Given the description of an element on the screen output the (x, y) to click on. 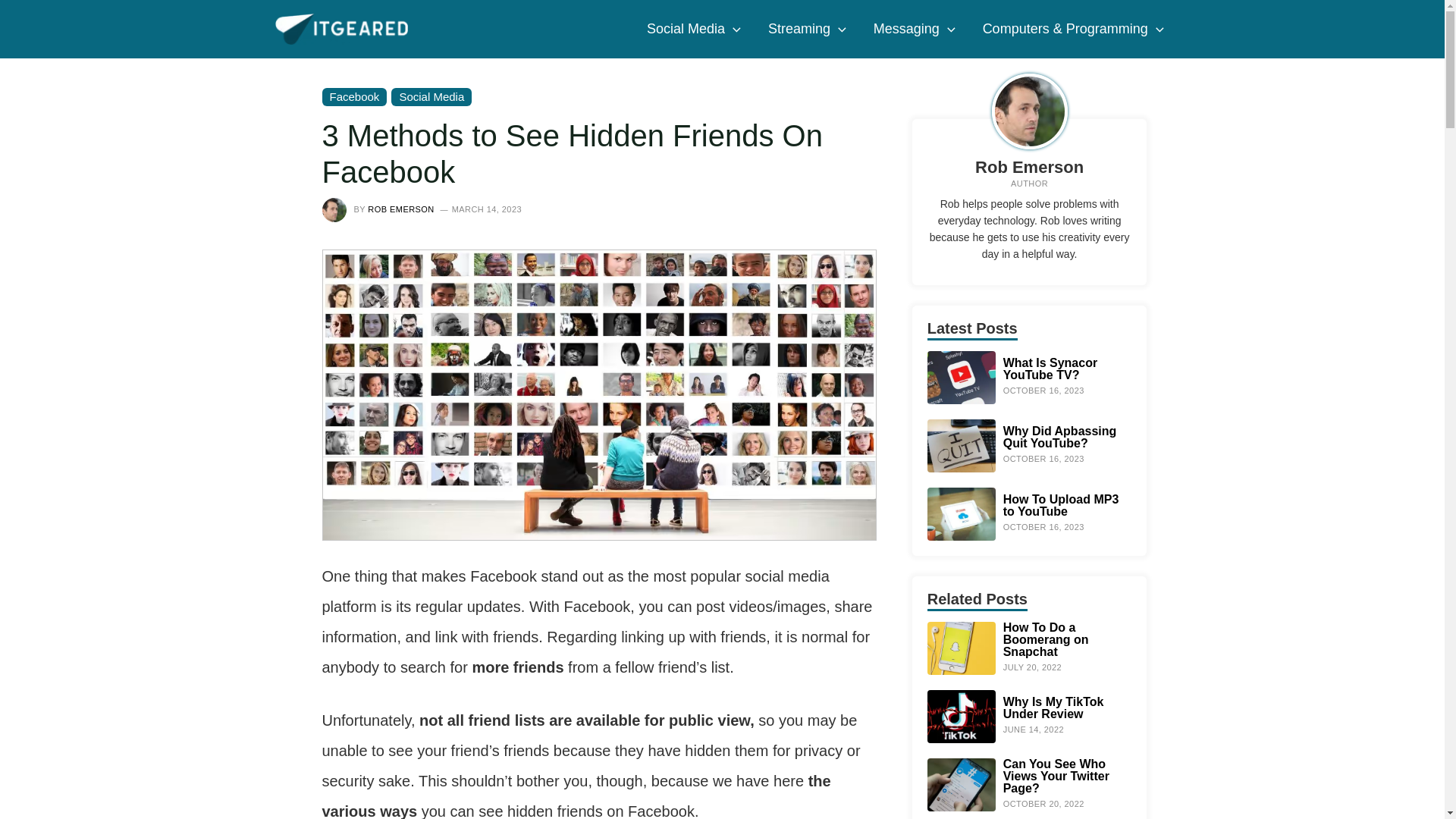
Messaging (914, 28)
Social Media (693, 28)
Streaming (807, 28)
